Given the description of an element on the screen output the (x, y) to click on. 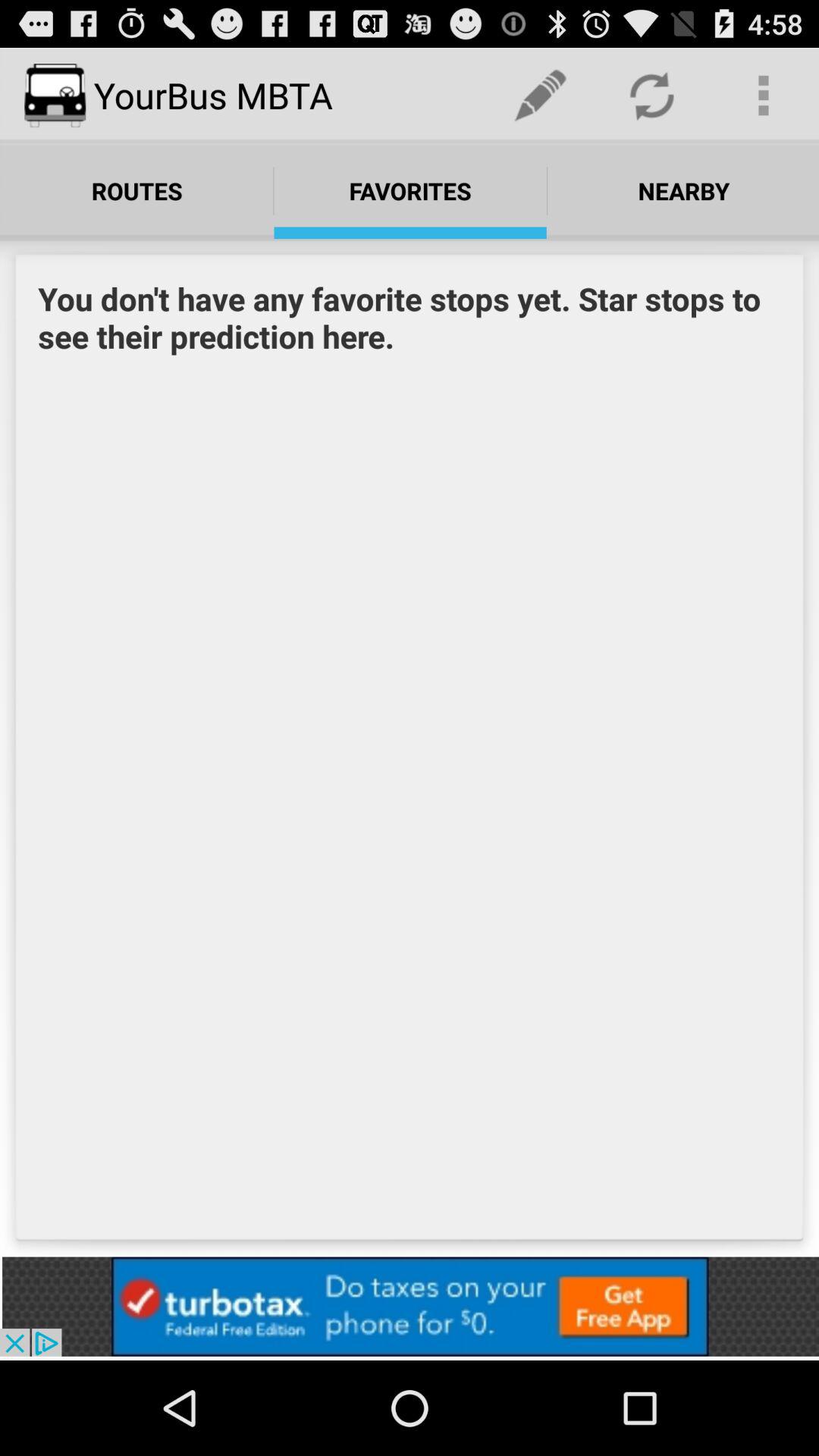
advertisement (409, 1306)
